Given the description of an element on the screen output the (x, y) to click on. 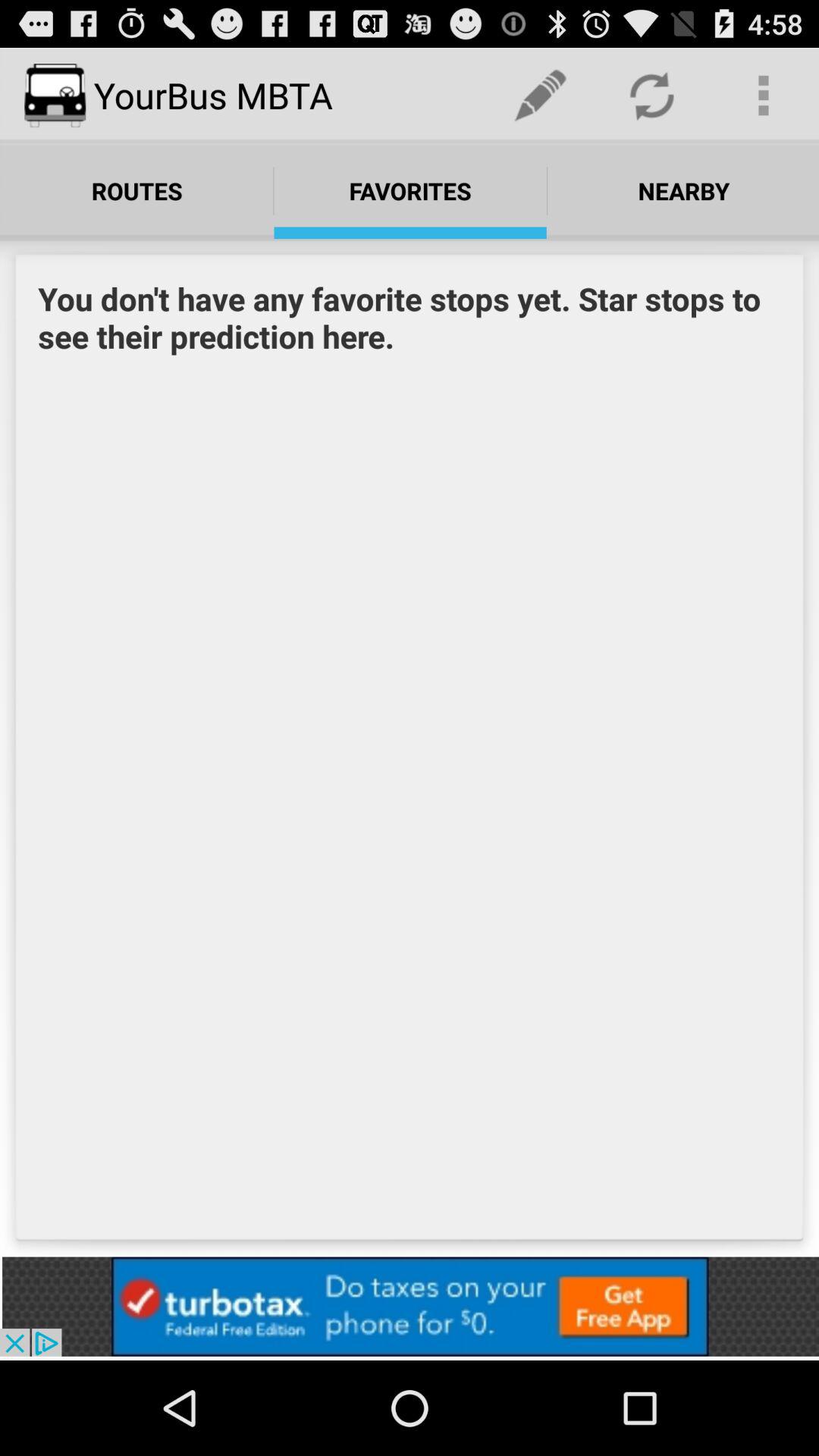
advertisement (409, 1306)
